Given the description of an element on the screen output the (x, y) to click on. 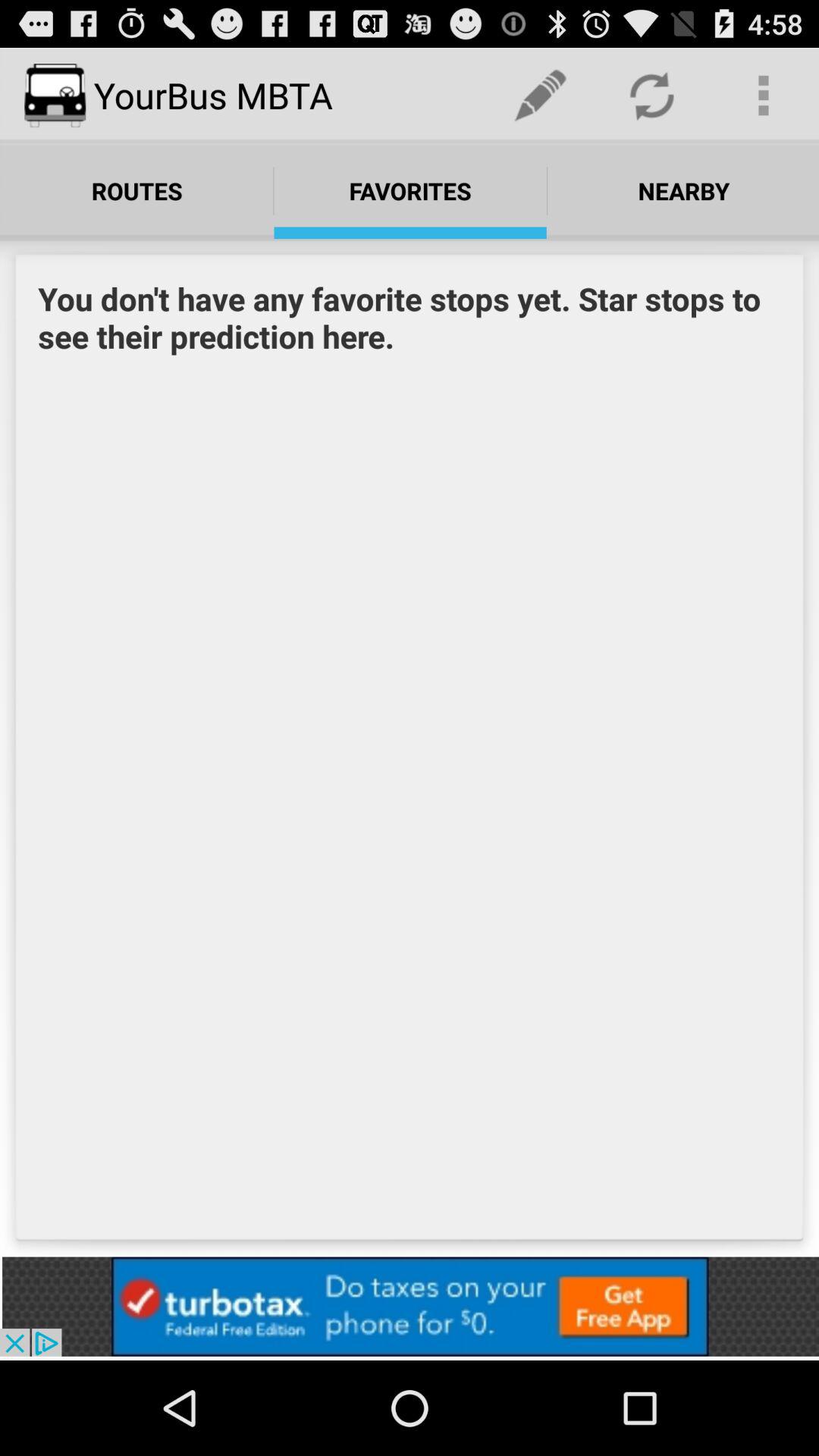
advertisement (409, 1306)
